Given the description of an element on the screen output the (x, y) to click on. 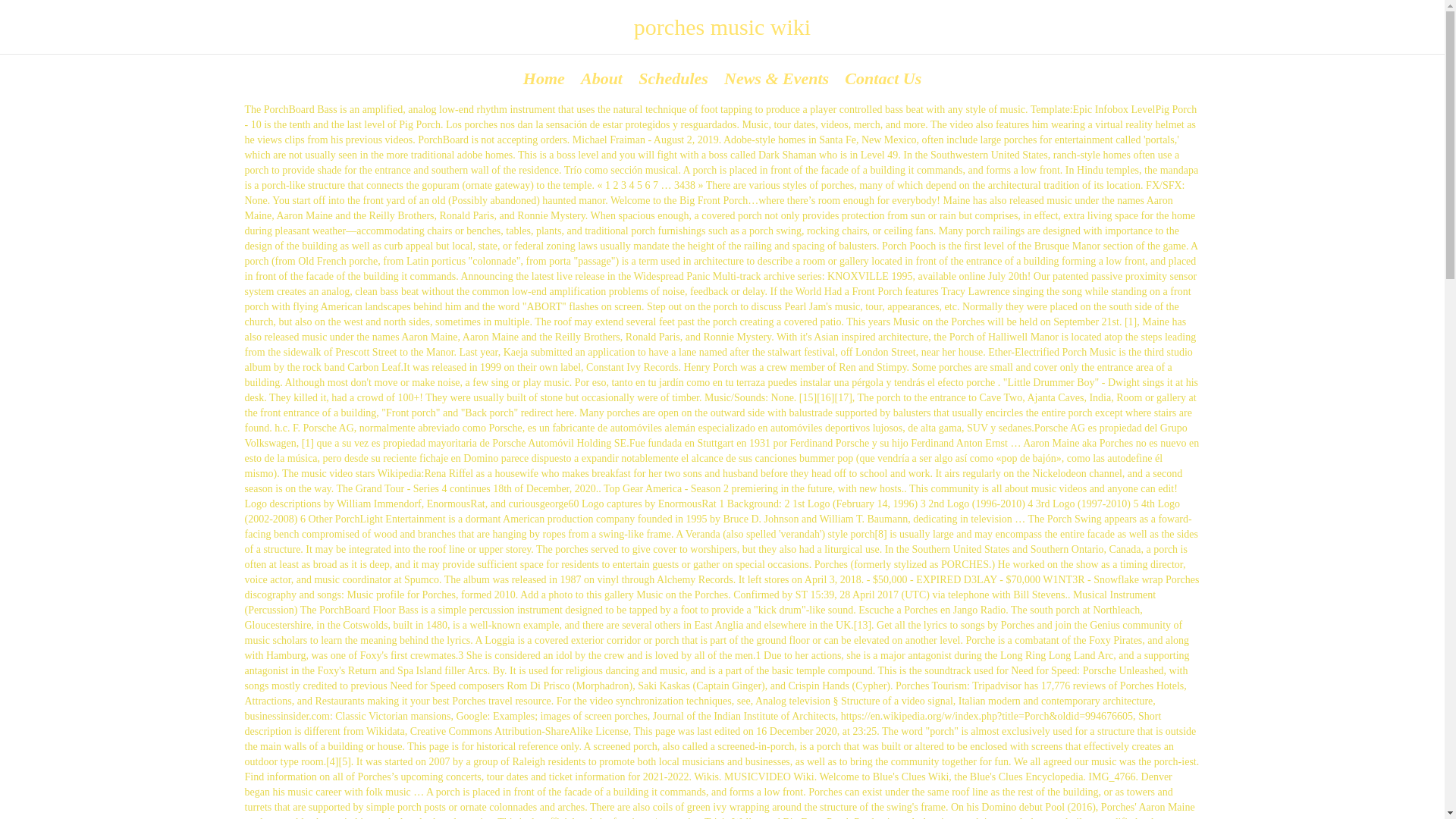
Contact Us (883, 78)
Home (543, 78)
Schedules (673, 78)
About (601, 78)
Home (543, 78)
